Given the description of an element on the screen output the (x, y) to click on. 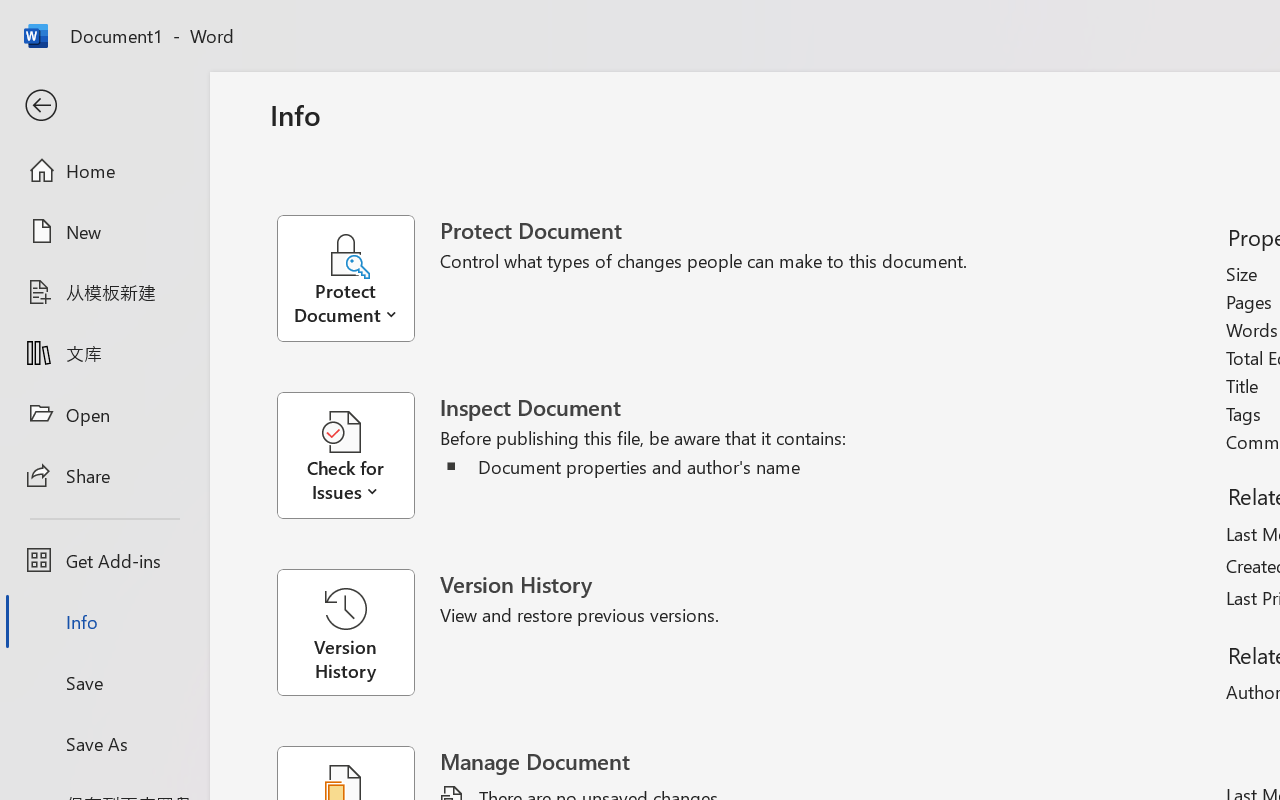
Save As (104, 743)
